Given the description of an element on the screen output the (x, y) to click on. 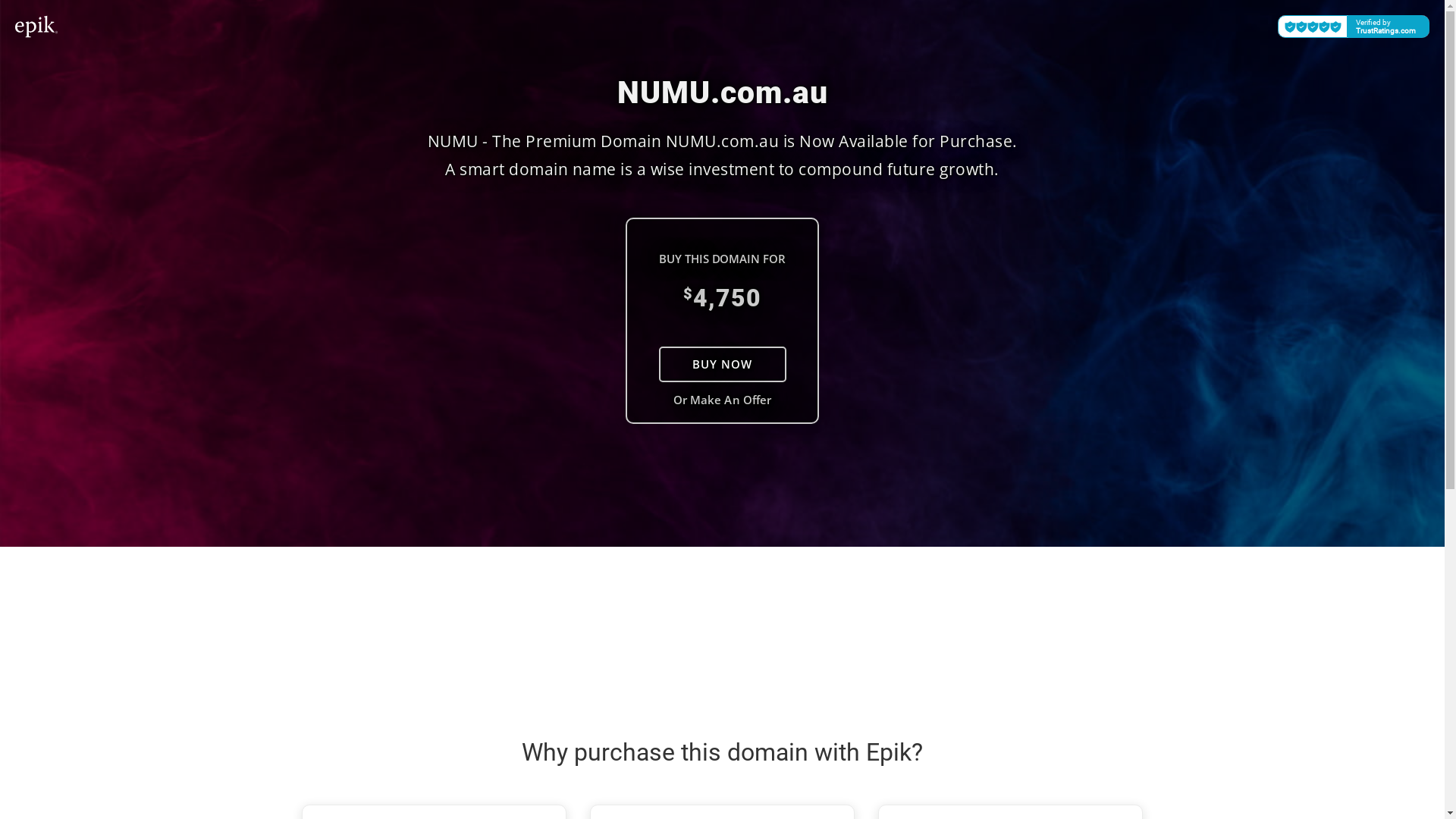
BUY NOW Element type: text (721, 364)
Or Make An Offer Element type: text (721, 399)
Verified by TrustRatings.com Element type: hover (1353, 26)
